Given the description of an element on the screen output the (x, y) to click on. 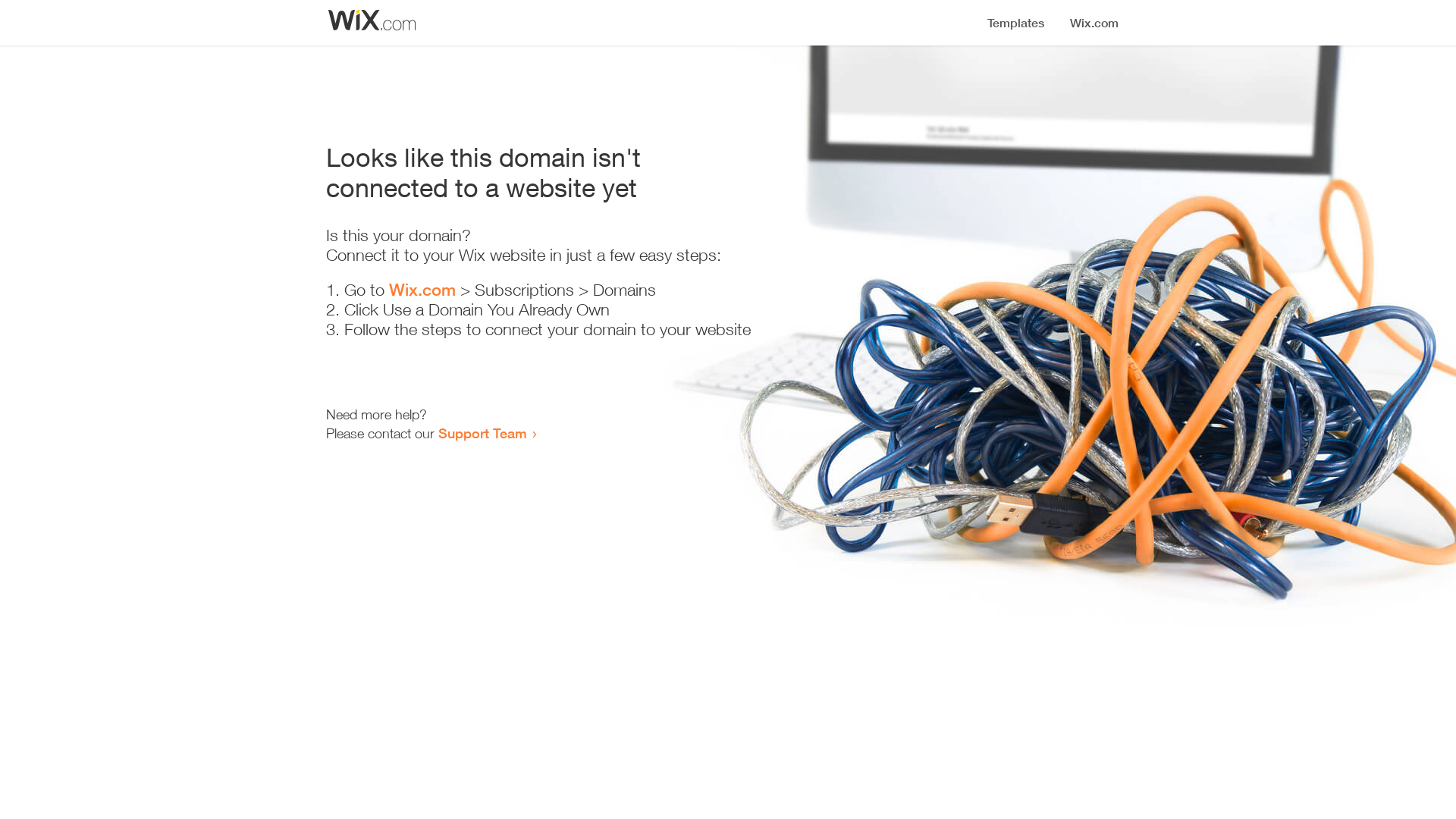
Wix.com Element type: text (422, 289)
Support Team Element type: text (482, 432)
